Given the description of an element on the screen output the (x, y) to click on. 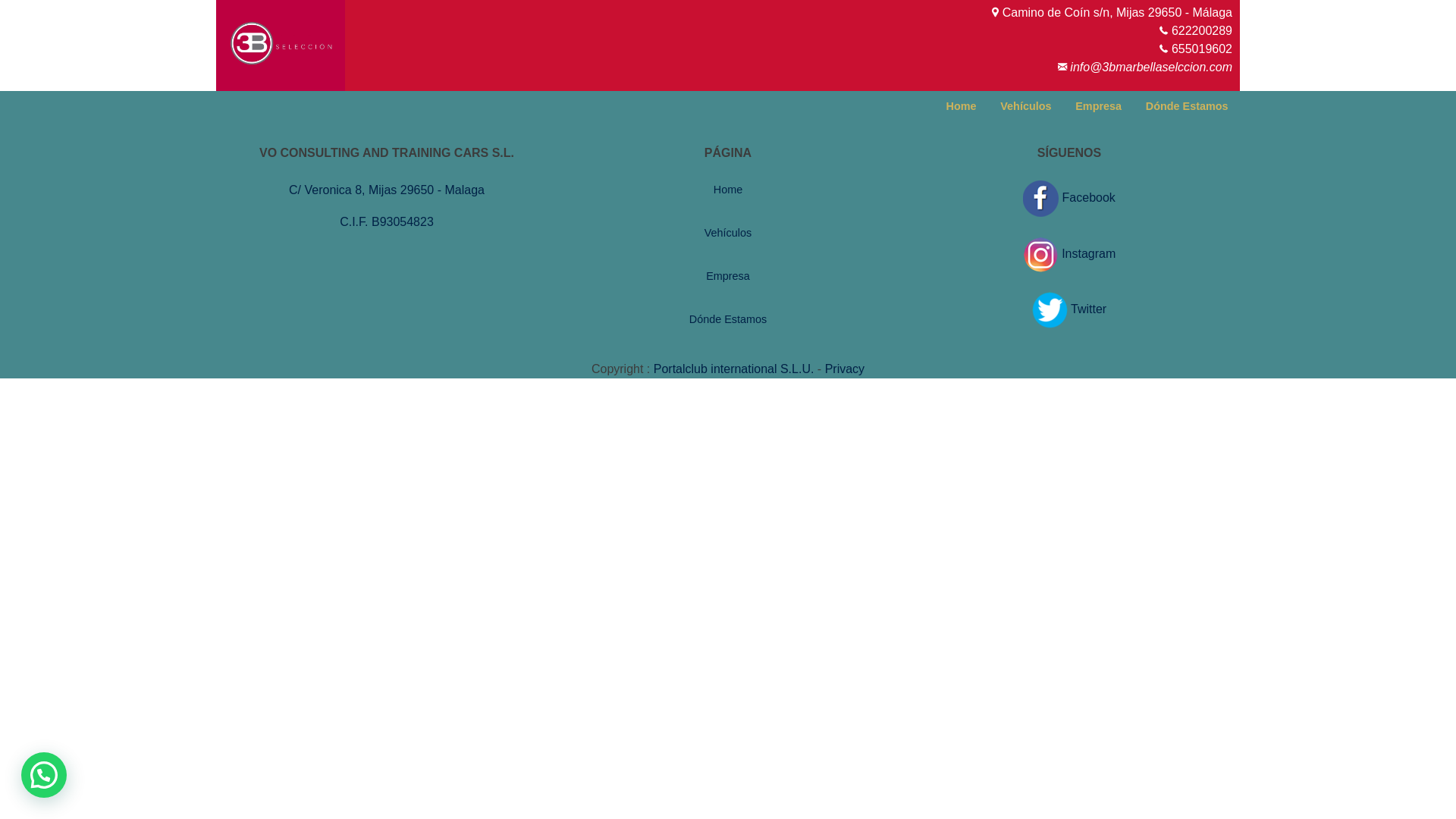
Privacy Element type: text (844, 368)
Home Element type: text (727, 189)
Twitter Element type: text (1069, 308)
622200289 Element type: text (1201, 30)
655019602 Element type: text (1201, 48)
info@3bmarbellaselccion.com Element type: text (1151, 66)
Portalclub international S.L.U. Element type: text (733, 368)
Empresa Element type: text (727, 275)
Empresa Element type: text (1098, 106)
Facebook Element type: text (1068, 197)
Home Element type: text (961, 106)
Instagram Element type: text (1069, 253)
